Given the description of an element on the screen output the (x, y) to click on. 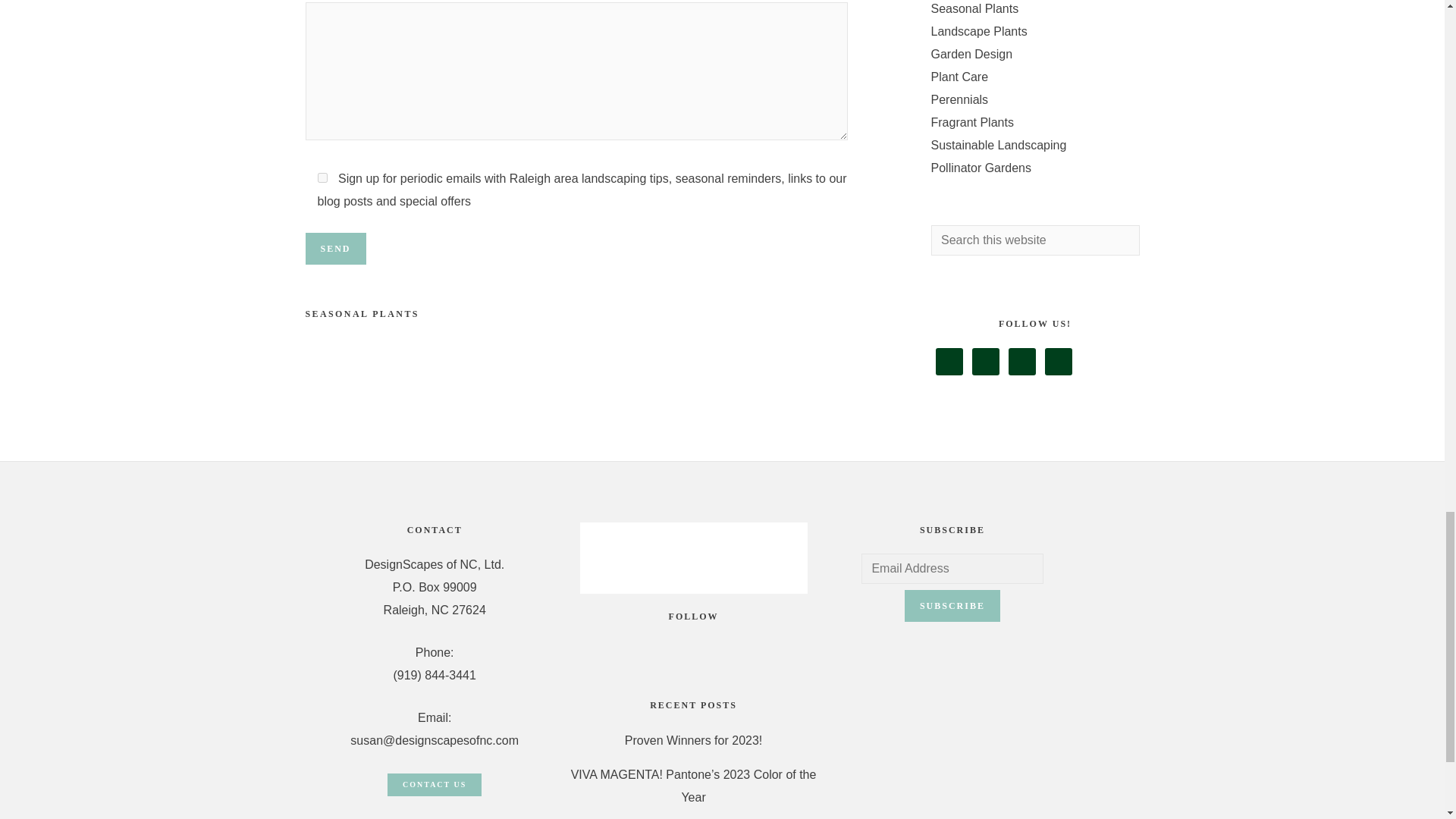
SEASONAL PLANTS (361, 313)
Send (334, 248)
Seasonal Plants (975, 8)
Subscribe (952, 605)
Send (334, 248)
